Given the description of an element on the screen output the (x, y) to click on. 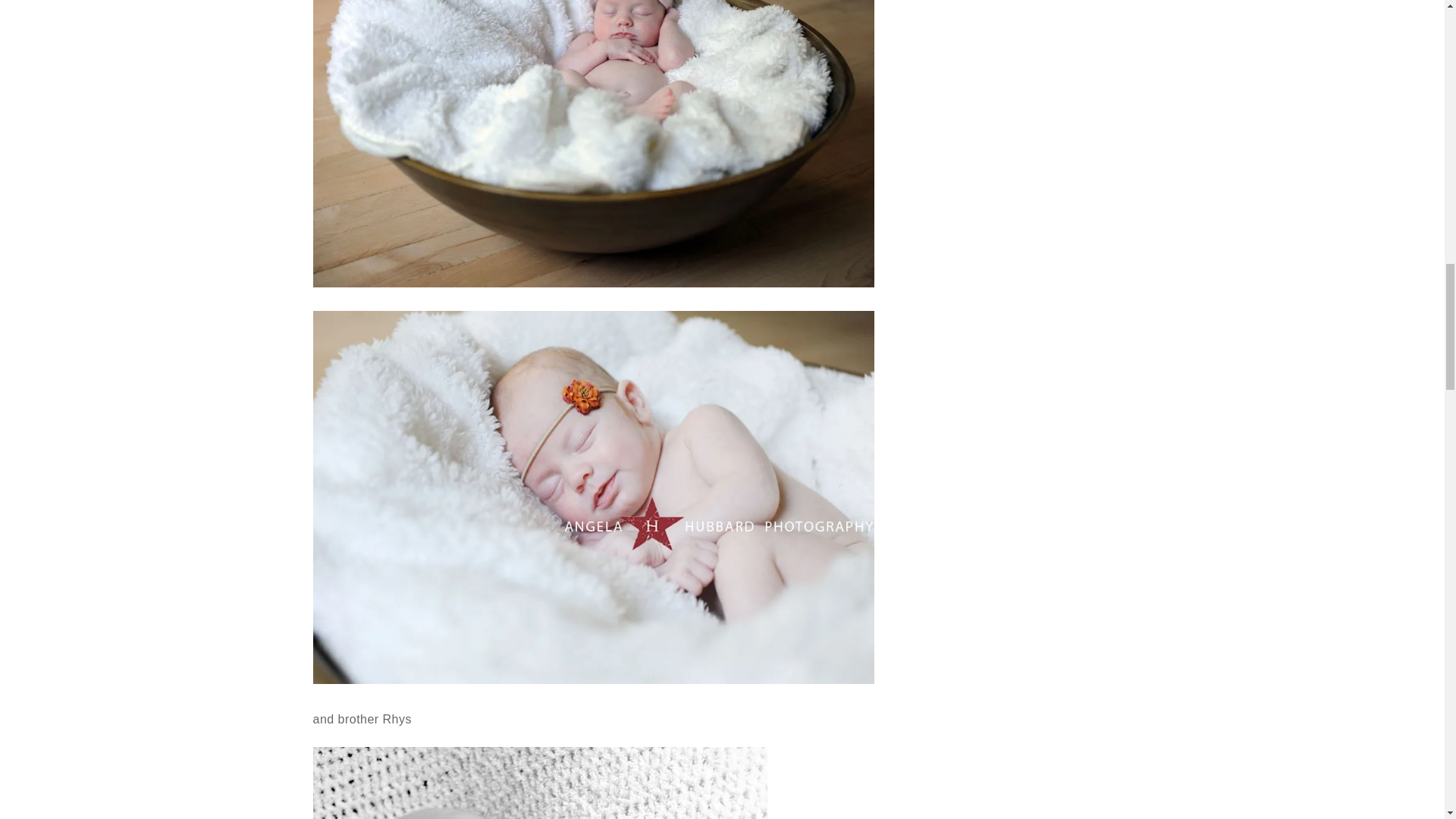
Vancouver newborn photographer Angela Hubbard Photography (540, 782)
